Given the description of an element on the screen output the (x, y) to click on. 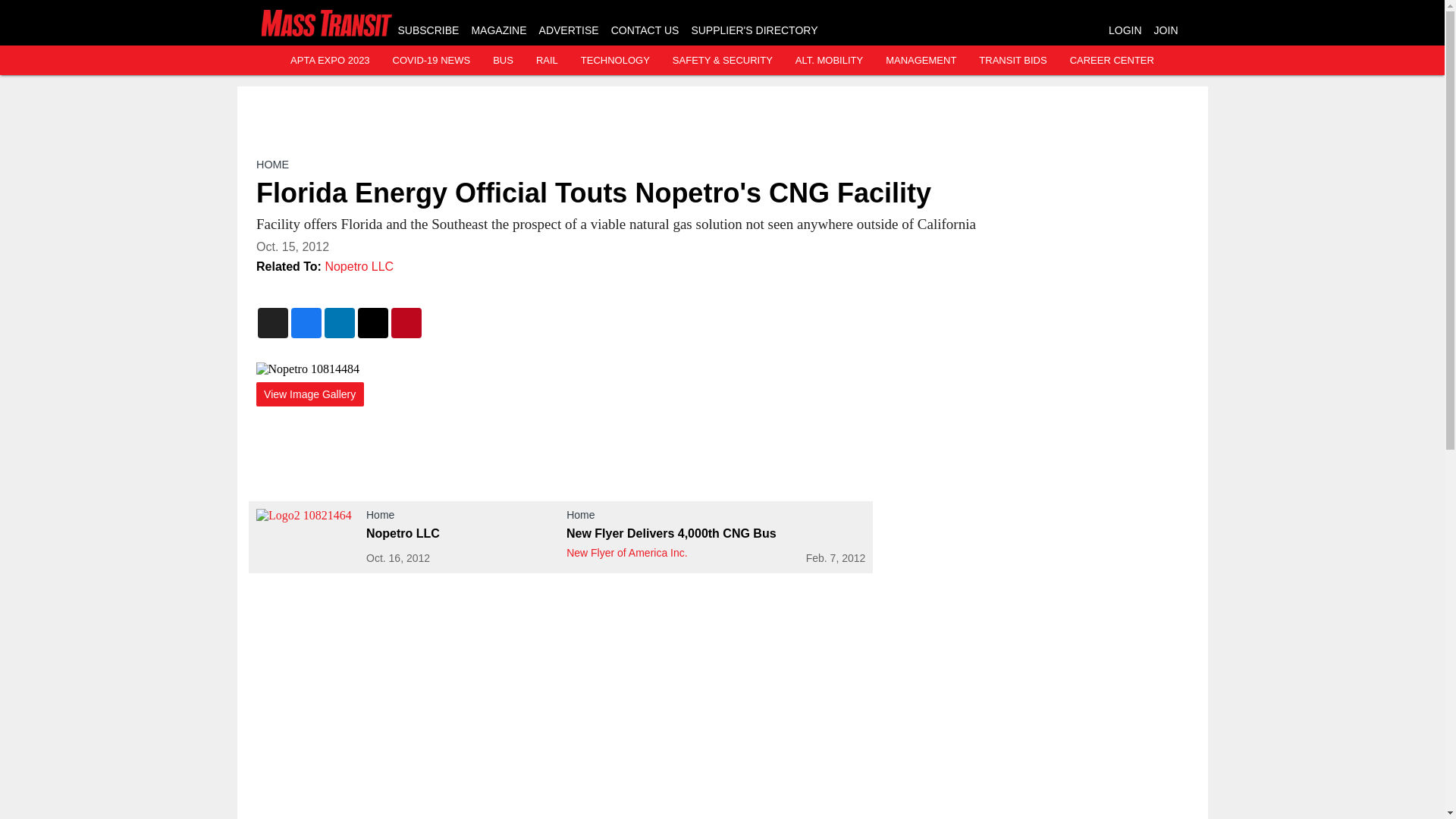
Logo2 10821464 (307, 536)
TECHNOLOGY (614, 60)
LOGIN (1124, 30)
COVID-19 NEWS (431, 60)
BUS (503, 60)
APTA EXPO 2023 (329, 60)
ALT. MOBILITY (828, 60)
CONTACT US (645, 30)
MAGAZINE (497, 30)
JOIN (1165, 30)
ADVERTISE (568, 30)
TRANSIT BIDS (1012, 60)
MANAGEMENT (920, 60)
SUPPLIER'S DIRECTORY (753, 30)
SUBSCRIBE (427, 30)
